Given the description of an element on the screen output the (x, y) to click on. 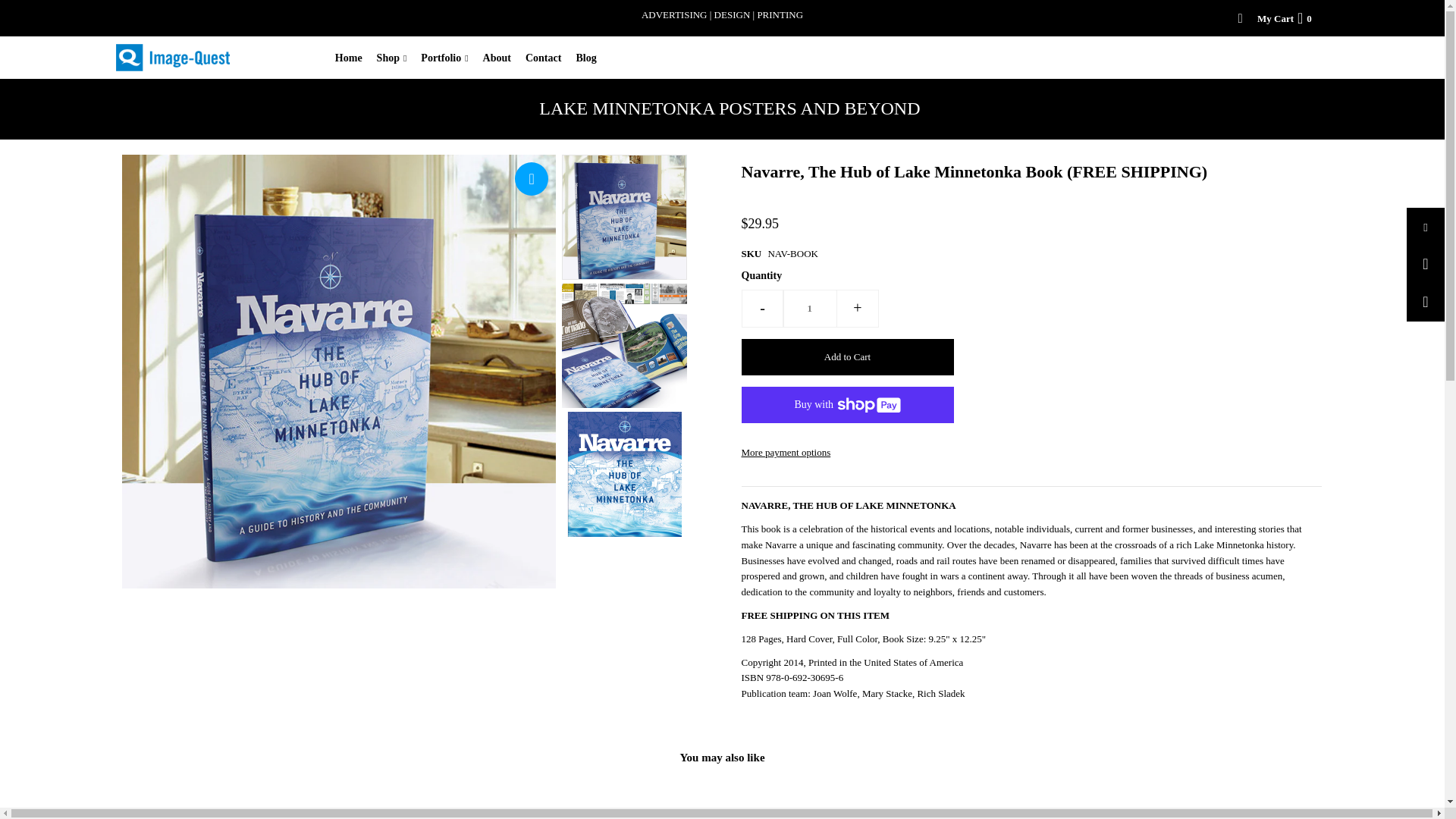
Contact (548, 57)
LAKE MINNETONKA POSTERS AND BEYOND (729, 108)
About (502, 57)
Share on Twitter (1425, 264)
Shop (398, 57)
LAKE MINNETONKA POSTERS AND BEYOND (722, 108)
Portfolio (449, 57)
Share on Pinterest (1425, 302)
LAKE MINNETONKA POSTERS AND BEYOND (729, 108)
Share on Facebook (1425, 226)
Home (354, 57)
1 (810, 308)
My Cart0 (1284, 18)
- (762, 308)
Blog (591, 57)
